Given the description of an element on the screen output the (x, y) to click on. 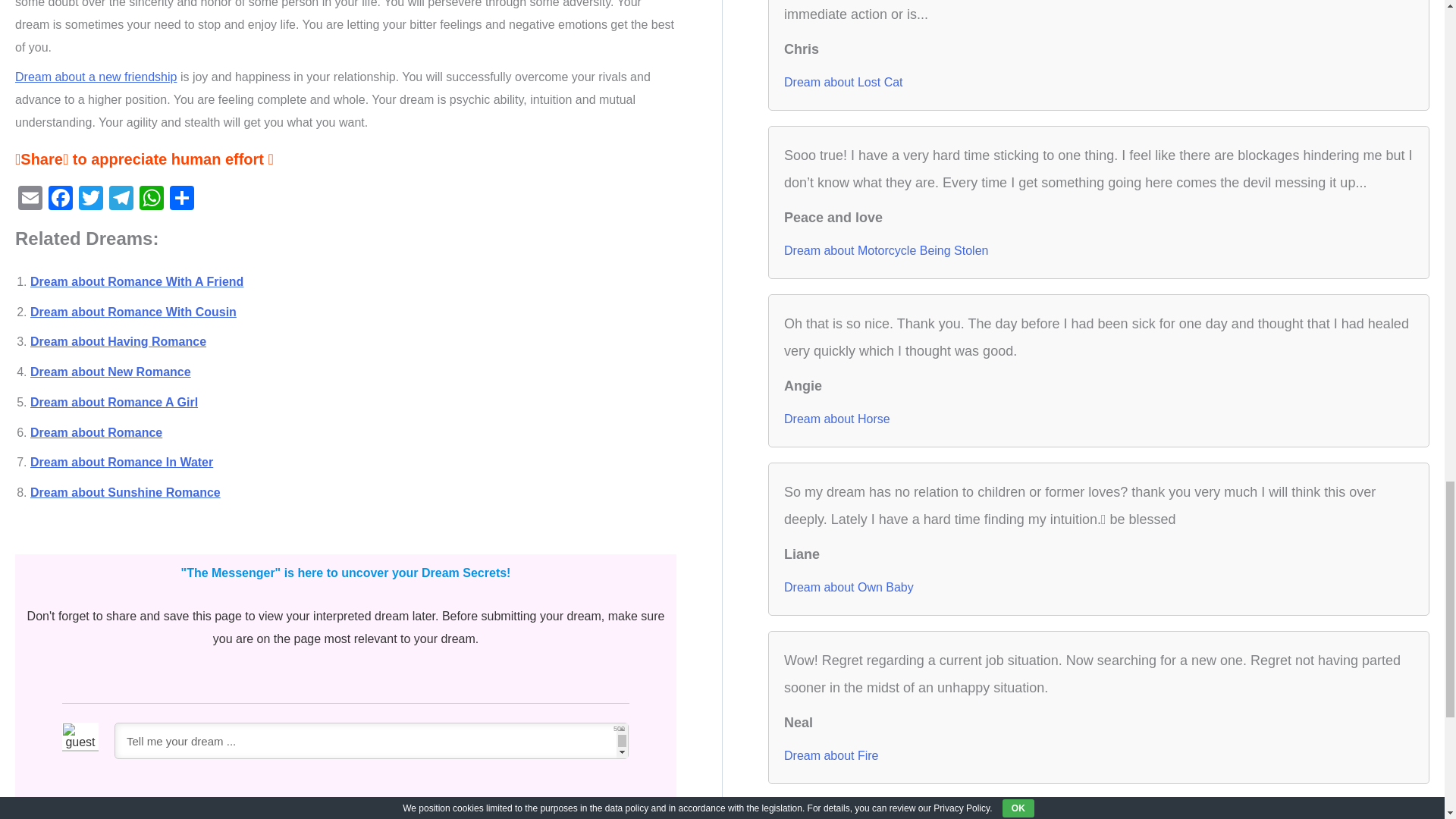
Dream about Horse (836, 419)
Dream about Romance In Water (121, 461)
Dream about New Romance (110, 371)
Dream about Romance (95, 431)
Dream about Having Romance (118, 341)
Twitter (90, 199)
Dream about Lost Cat (843, 82)
Dream about Own Baby (849, 587)
Dream about a new friendship (95, 76)
Dream about Motorcycle Being Stolen (886, 250)
